Given the description of an element on the screen output the (x, y) to click on. 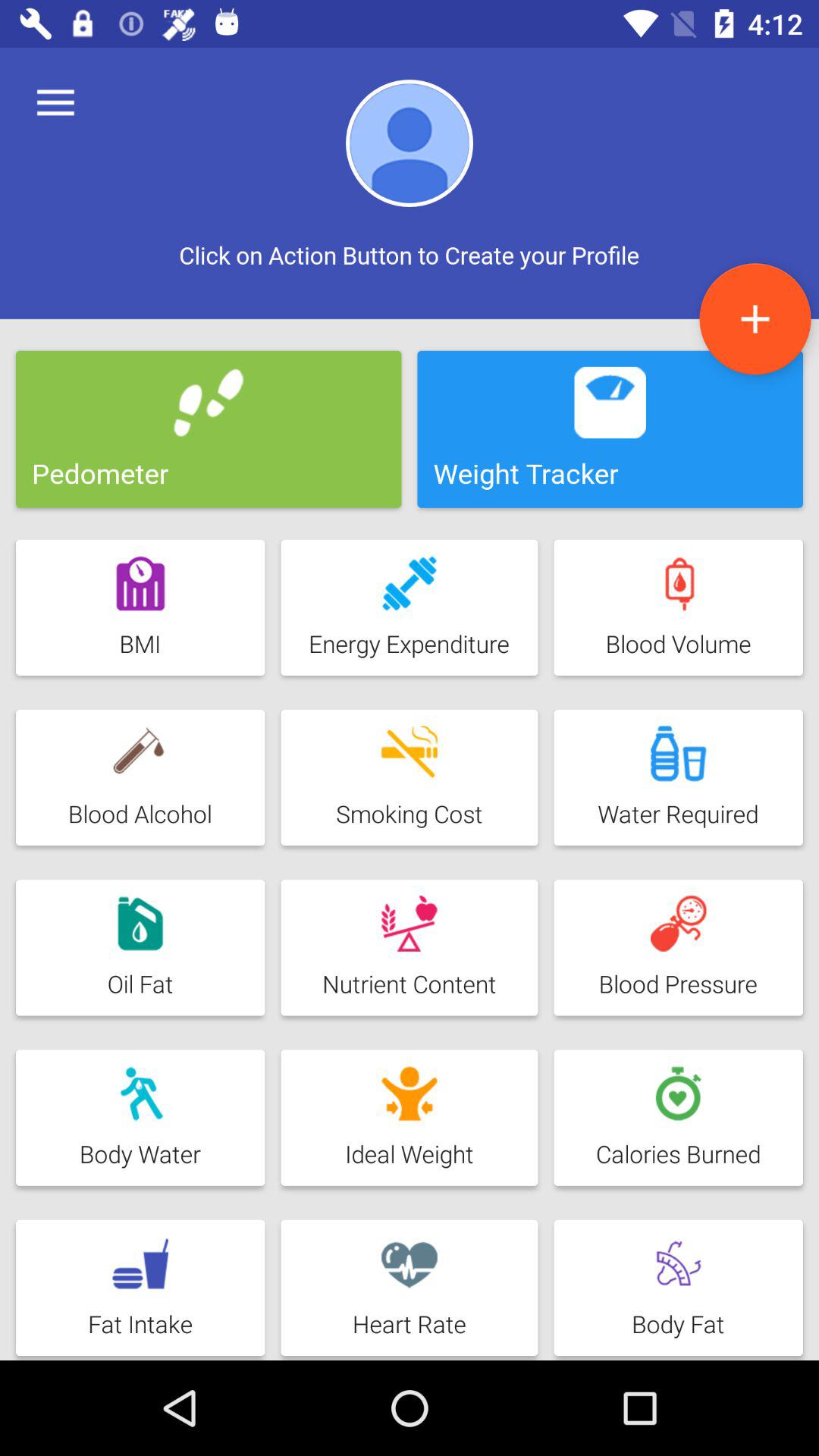
add information (755, 318)
